Given the description of an element on the screen output the (x, y) to click on. 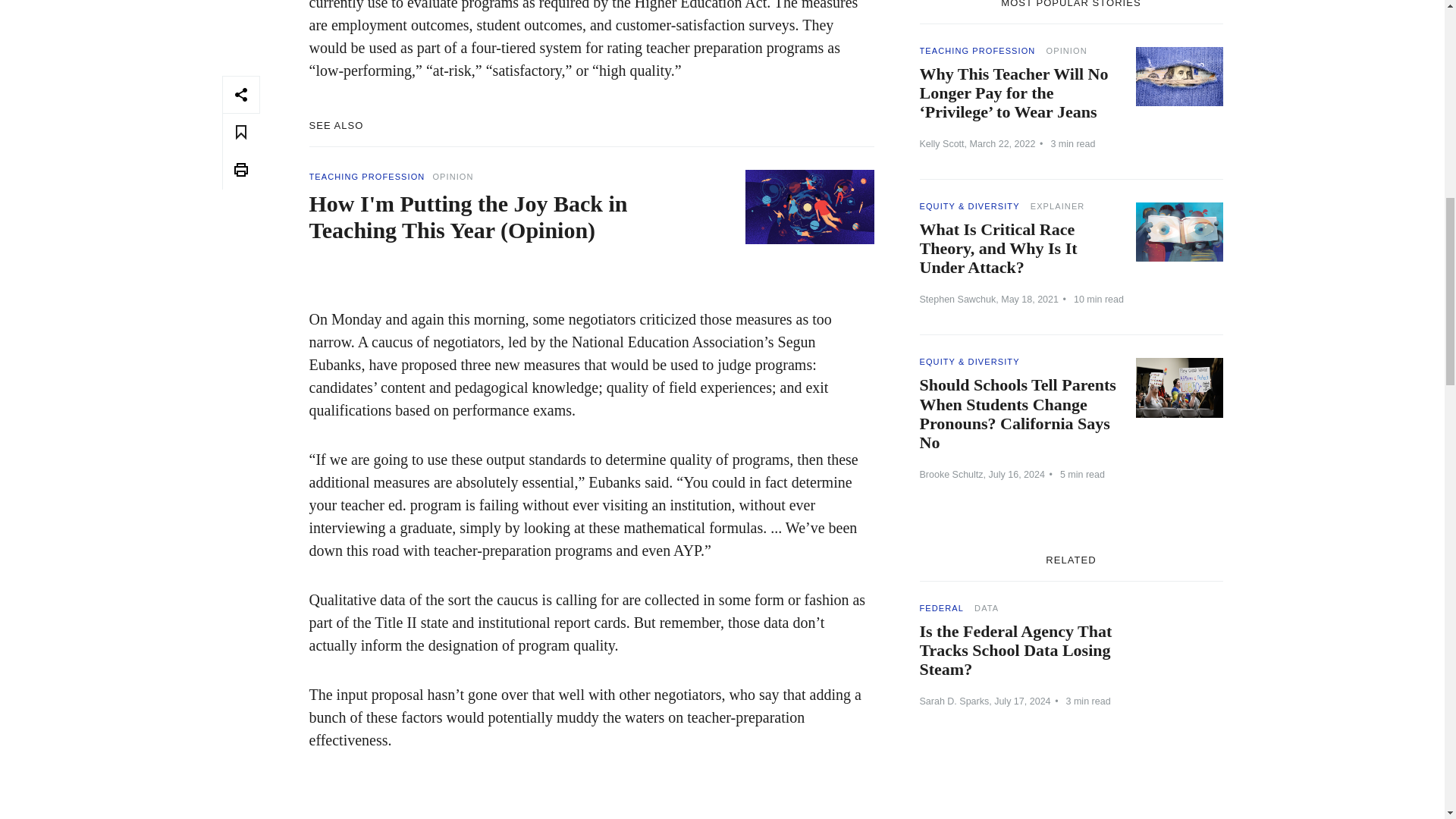
3rd party ad content (1070, 793)
3rd party ad content (590, 796)
